Given the description of an element on the screen output the (x, y) to click on. 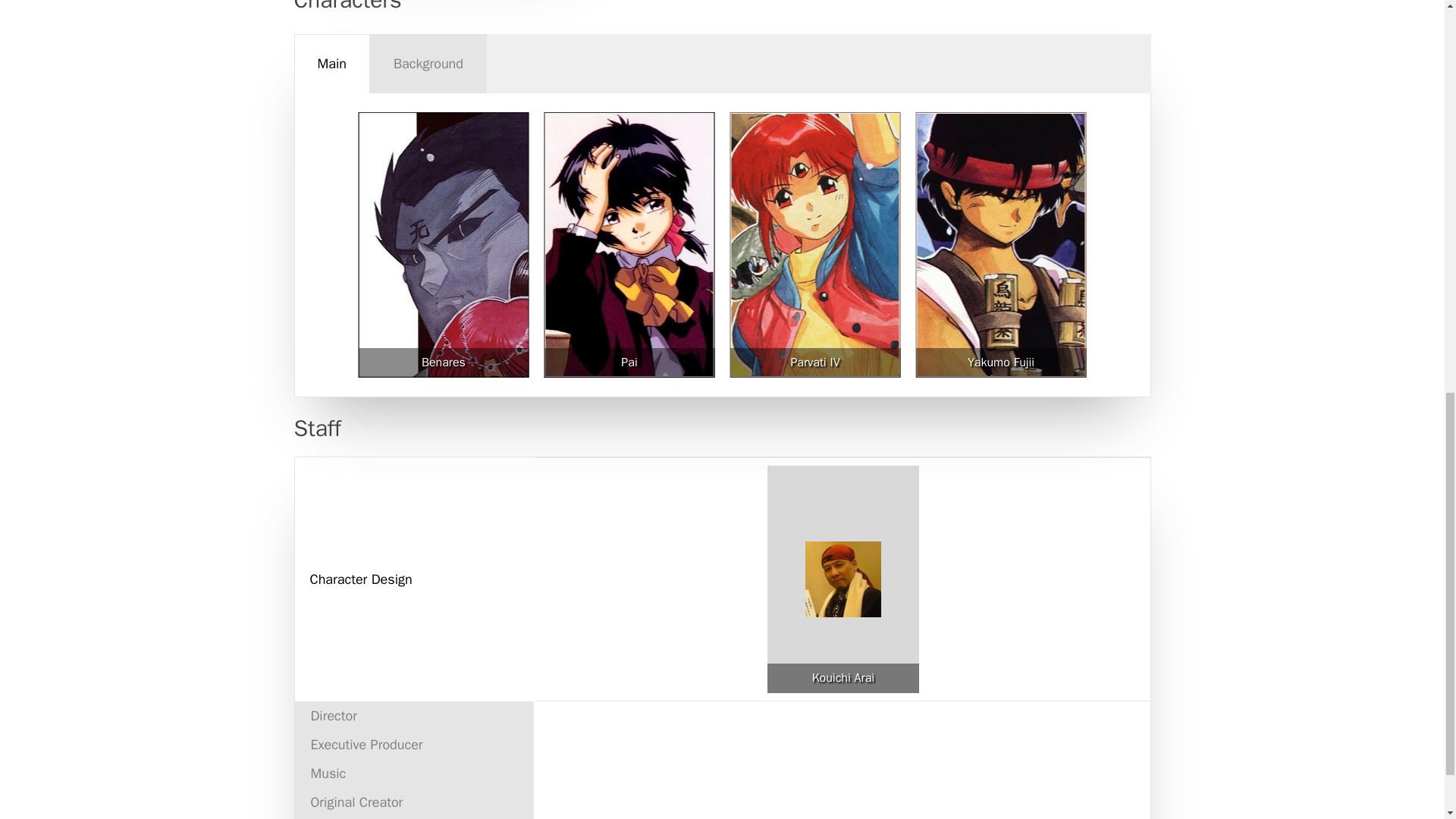
Parvati IV (815, 362)
Yakumo Fujii (1000, 362)
Pai (629, 362)
Benares (443, 362)
